Given the description of an element on the screen output the (x, y) to click on. 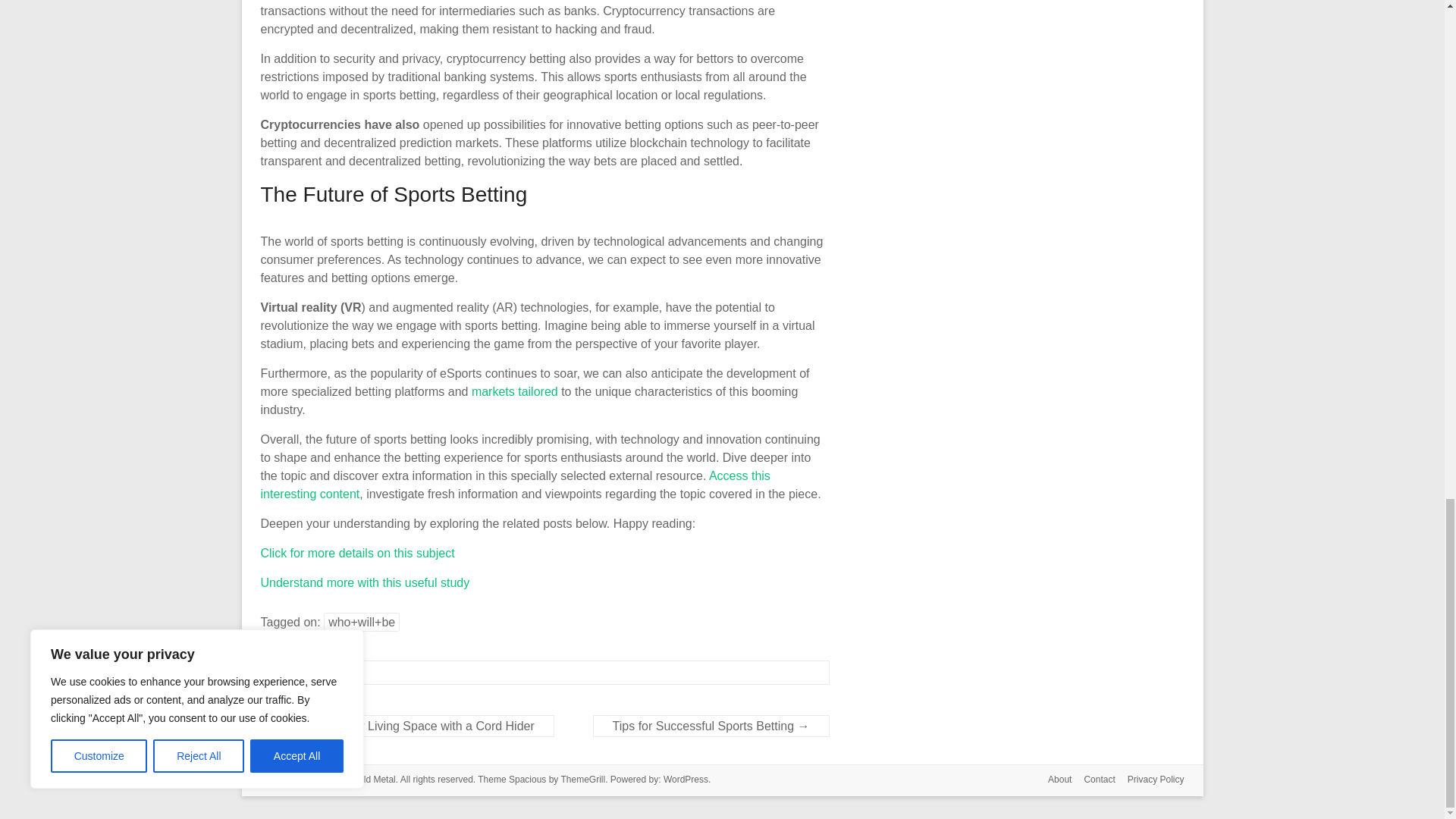
WordPress (685, 778)
markets tailored (514, 391)
Click for more details on this subject (357, 553)
General (301, 672)
400 Gold Metal (363, 778)
Understand more with this useful study (365, 582)
Access this interesting content (515, 484)
Spacious (527, 778)
